Given the description of an element on the screen output the (x, y) to click on. 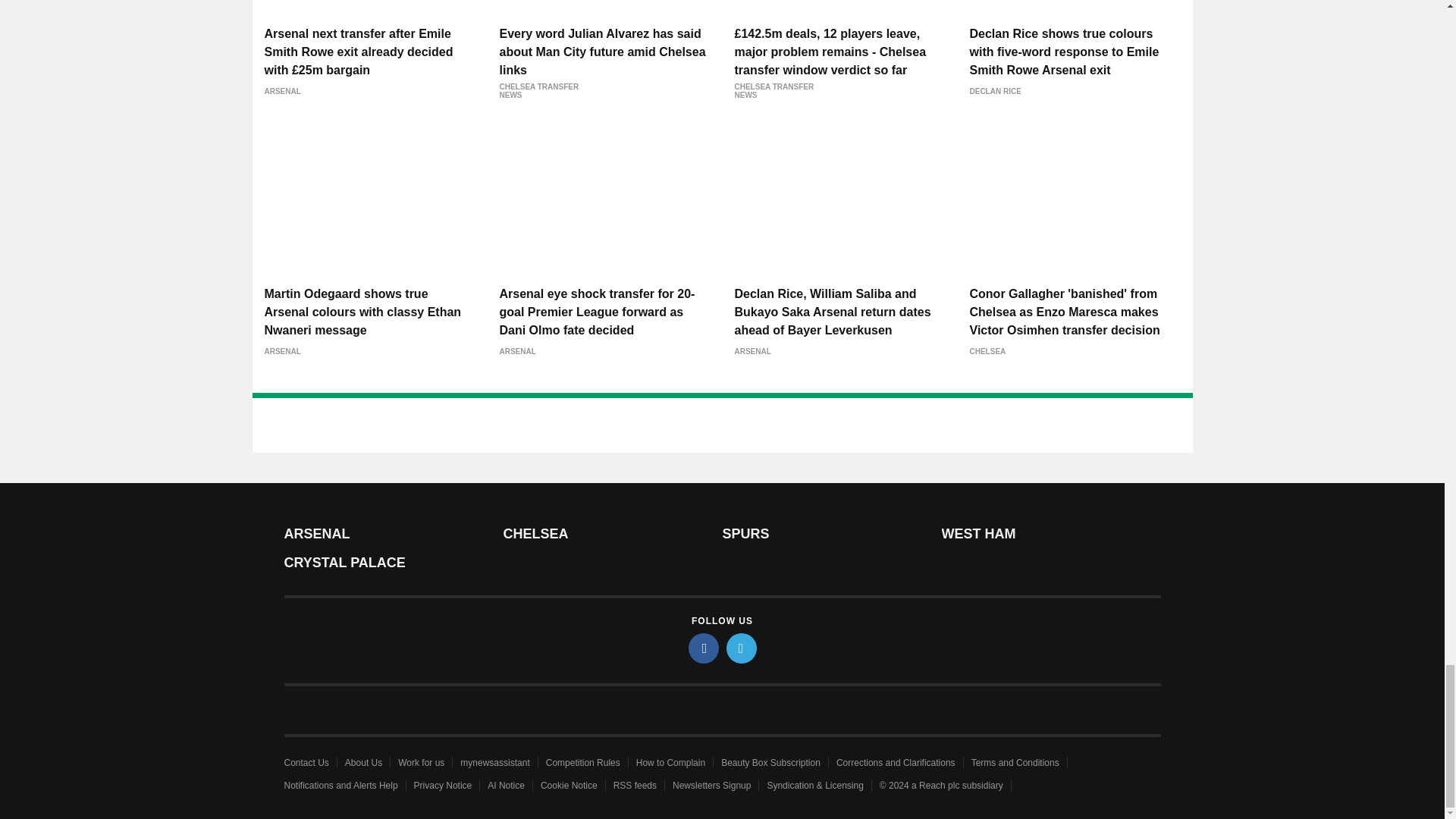
facebook (703, 648)
twitter (741, 648)
